Given the description of an element on the screen output the (x, y) to click on. 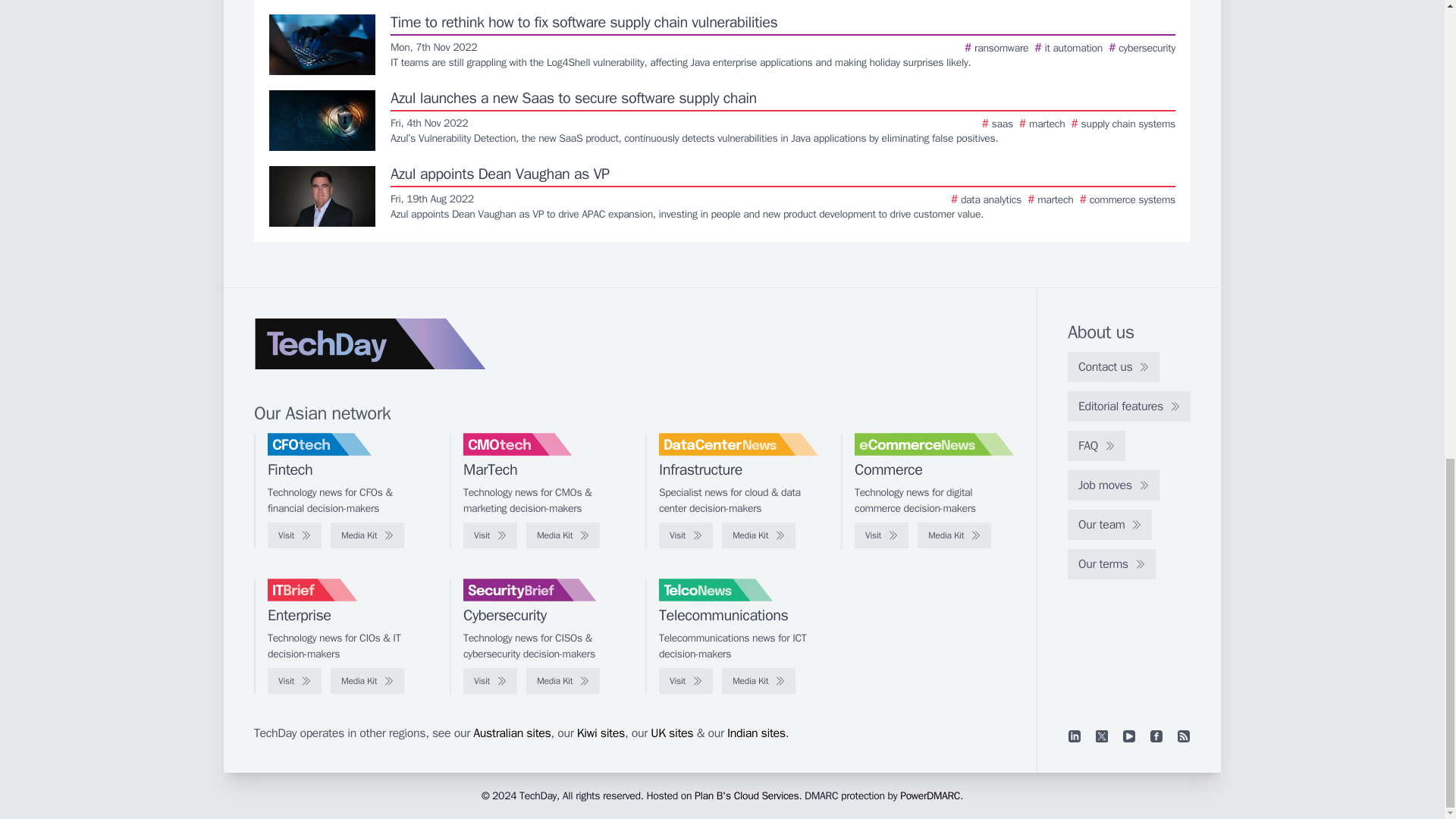
Media Kit (562, 680)
Visit (489, 534)
Media Kit (954, 534)
Visit (489, 680)
Media Kit (758, 534)
Visit (686, 534)
Media Kit (367, 680)
Media Kit (367, 534)
Media Kit (562, 534)
Visit (686, 680)
Visit (294, 534)
Visit (881, 534)
Visit (294, 680)
Australian sites (511, 733)
Media Kit (758, 680)
